Given the description of an element on the screen output the (x, y) to click on. 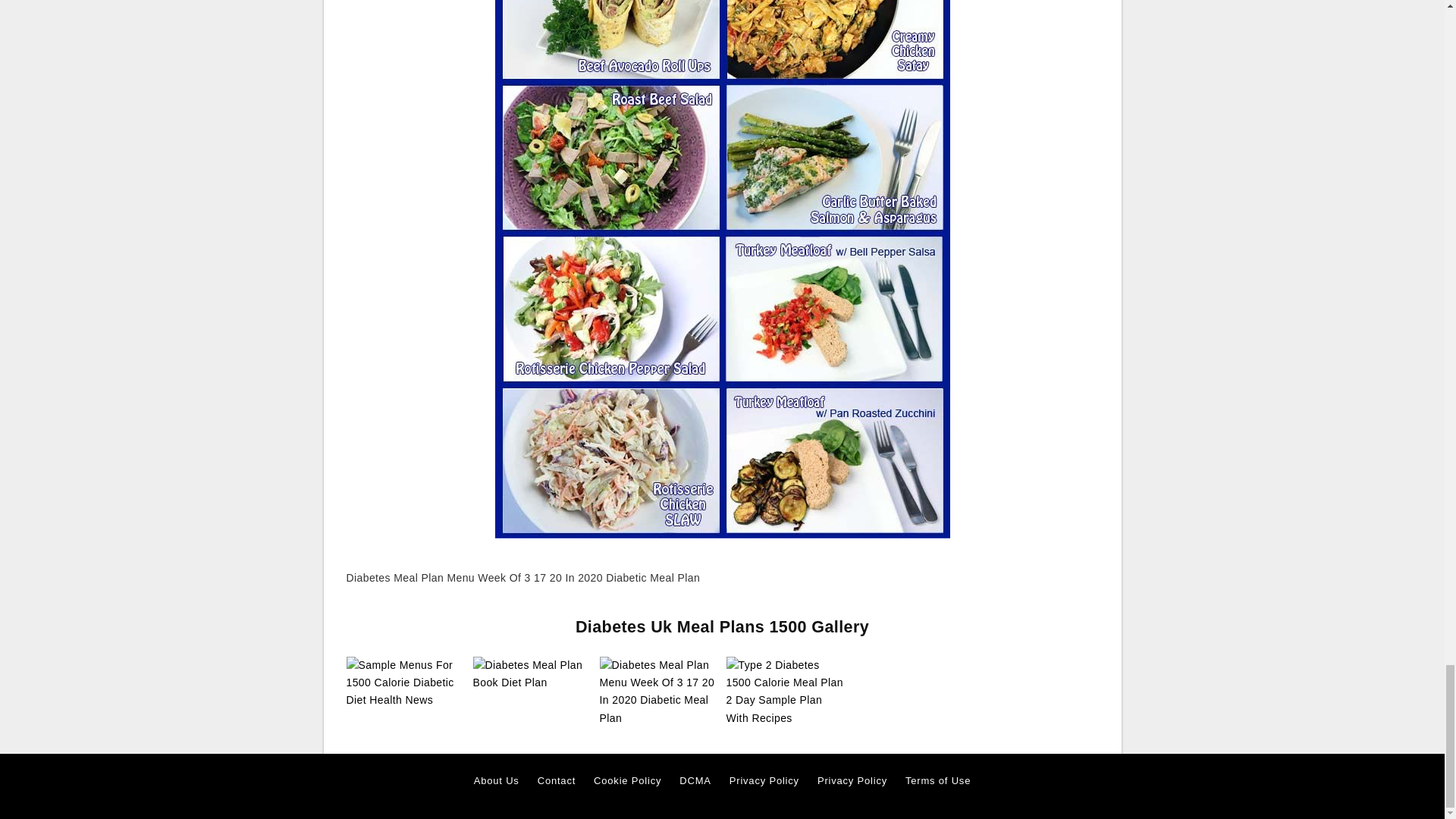
DCMA (694, 781)
Terms of Use (938, 781)
About Us (496, 781)
Sample Menus For 1500 Calorie Diabetic Diet Health News (405, 683)
Cookie Policy (627, 781)
Diabetes Meal Plan Book Diet Plan (532, 673)
Contact (556, 781)
Sample Menus For 1500 Calorie Diabetic Diet Health News (405, 681)
Privacy Policy (764, 781)
Diabetes Meal Plan Book Diet Plan (532, 674)
